Given the description of an element on the screen output the (x, y) to click on. 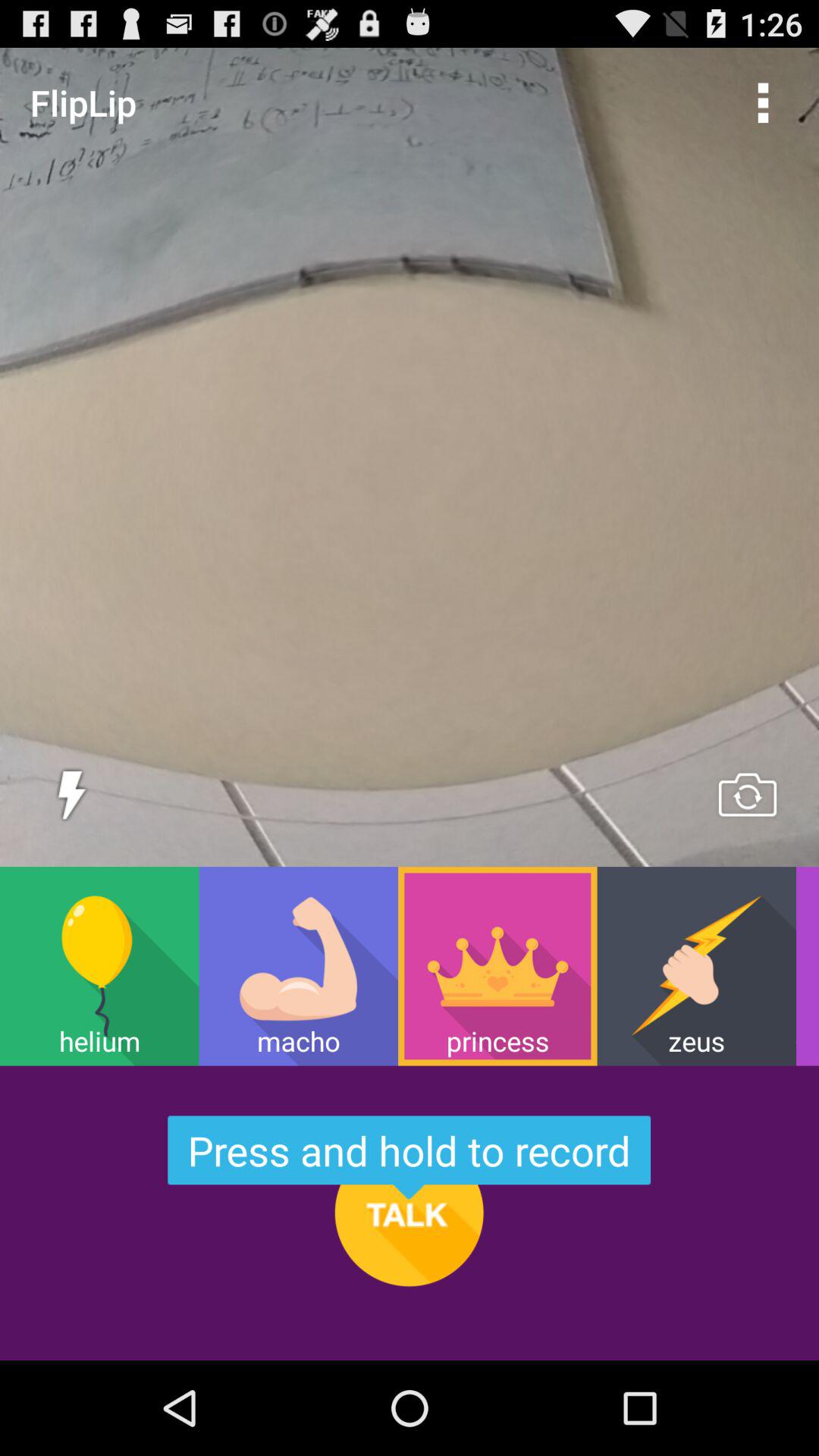
open item to the left of wacko (696, 965)
